Given the description of an element on the screen output the (x, y) to click on. 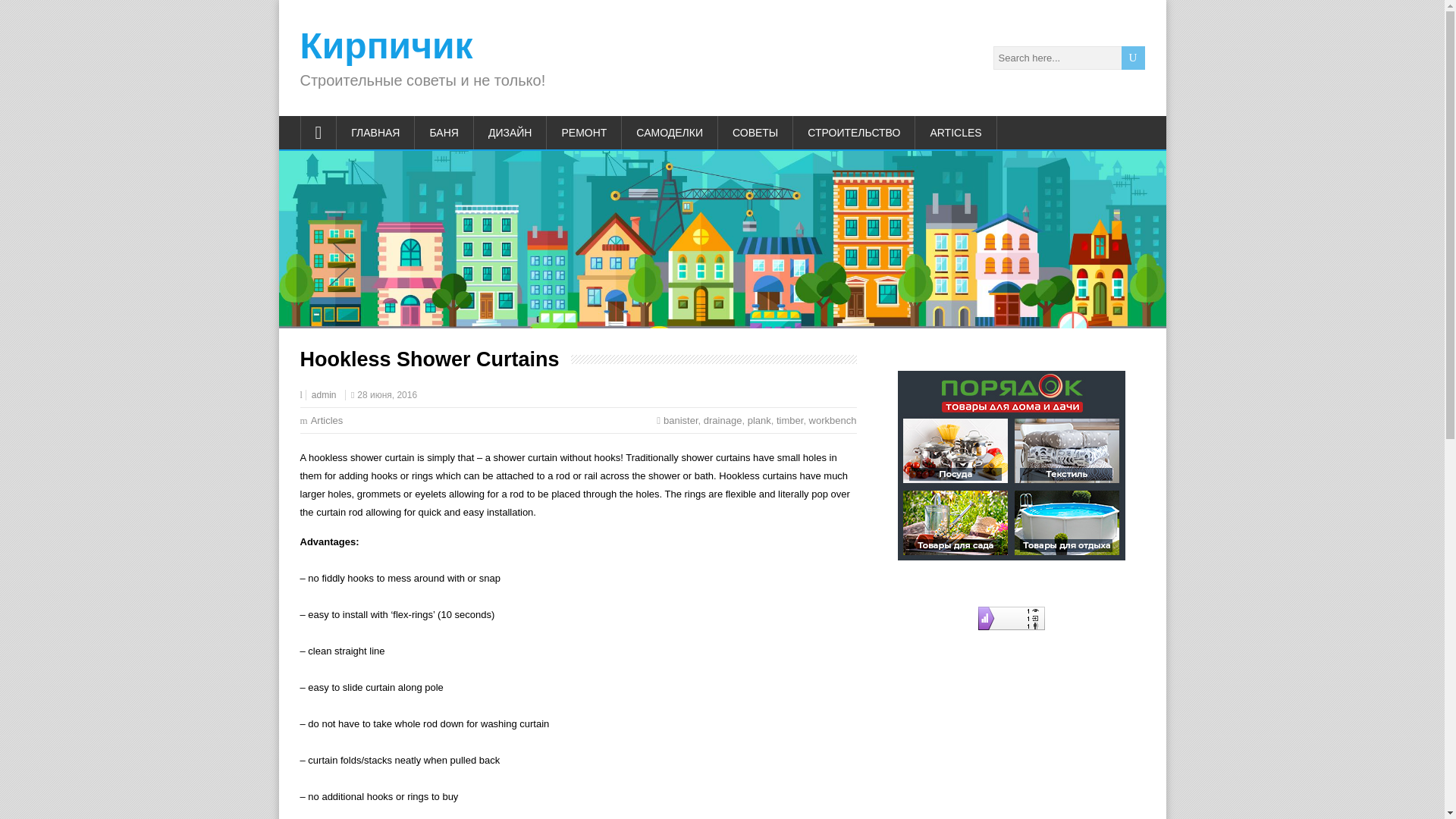
admin (323, 394)
banister (680, 419)
U (1132, 57)
Articles (327, 419)
drainage (722, 419)
timber (789, 419)
workbench (833, 419)
ARTICLES (955, 132)
U (1132, 57)
plank (759, 419)
